Given the description of an element on the screen output the (x, y) to click on. 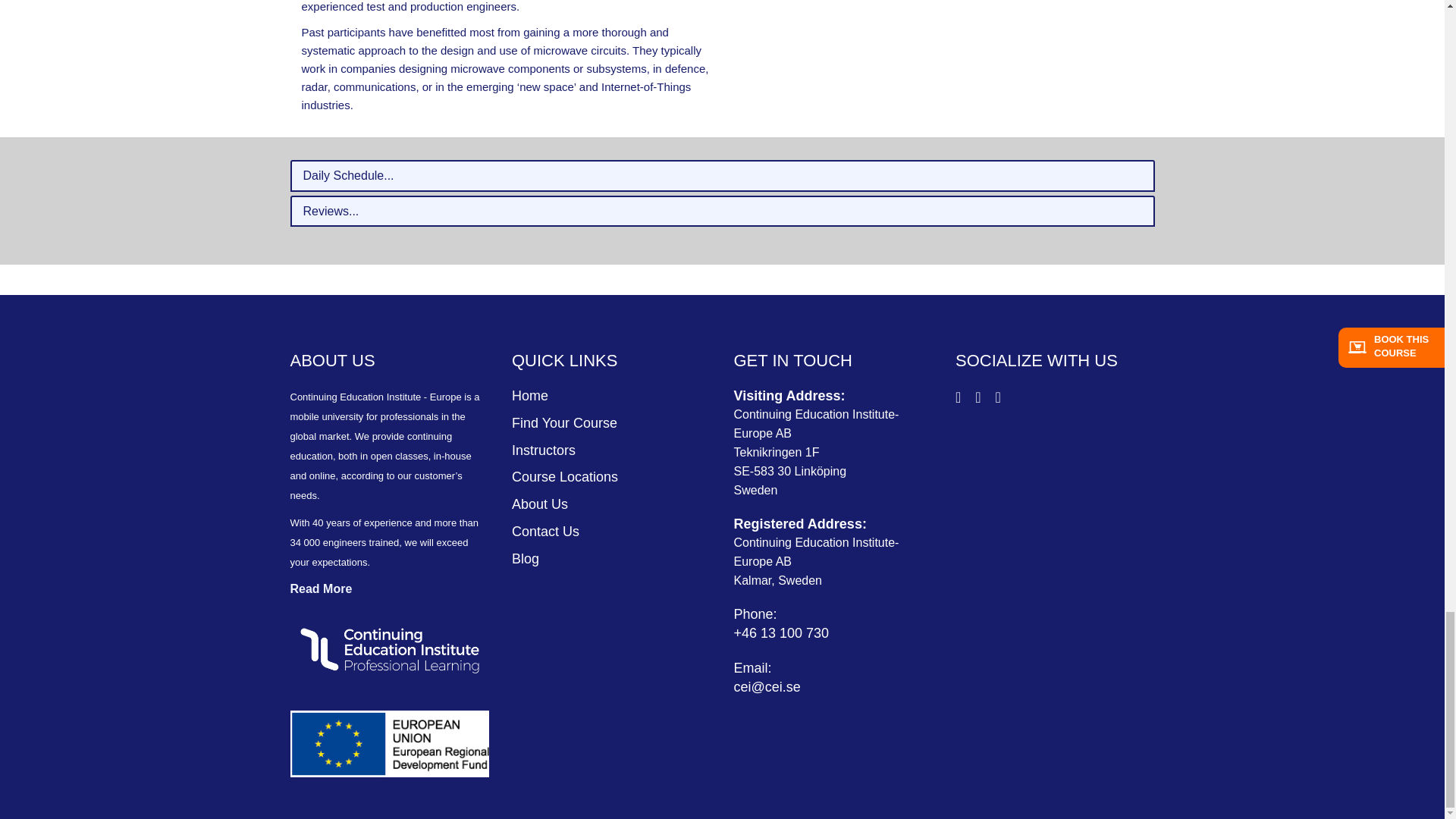
Blog (525, 558)
Contact Us (545, 531)
Find Your Course (564, 422)
Home (530, 395)
About Us (539, 503)
Read more (320, 588)
Instructors (543, 450)
Read More (320, 588)
Daily Schedule... (722, 175)
Course Locations (564, 476)
Reviews... (722, 211)
